Given the description of an element on the screen output the (x, y) to click on. 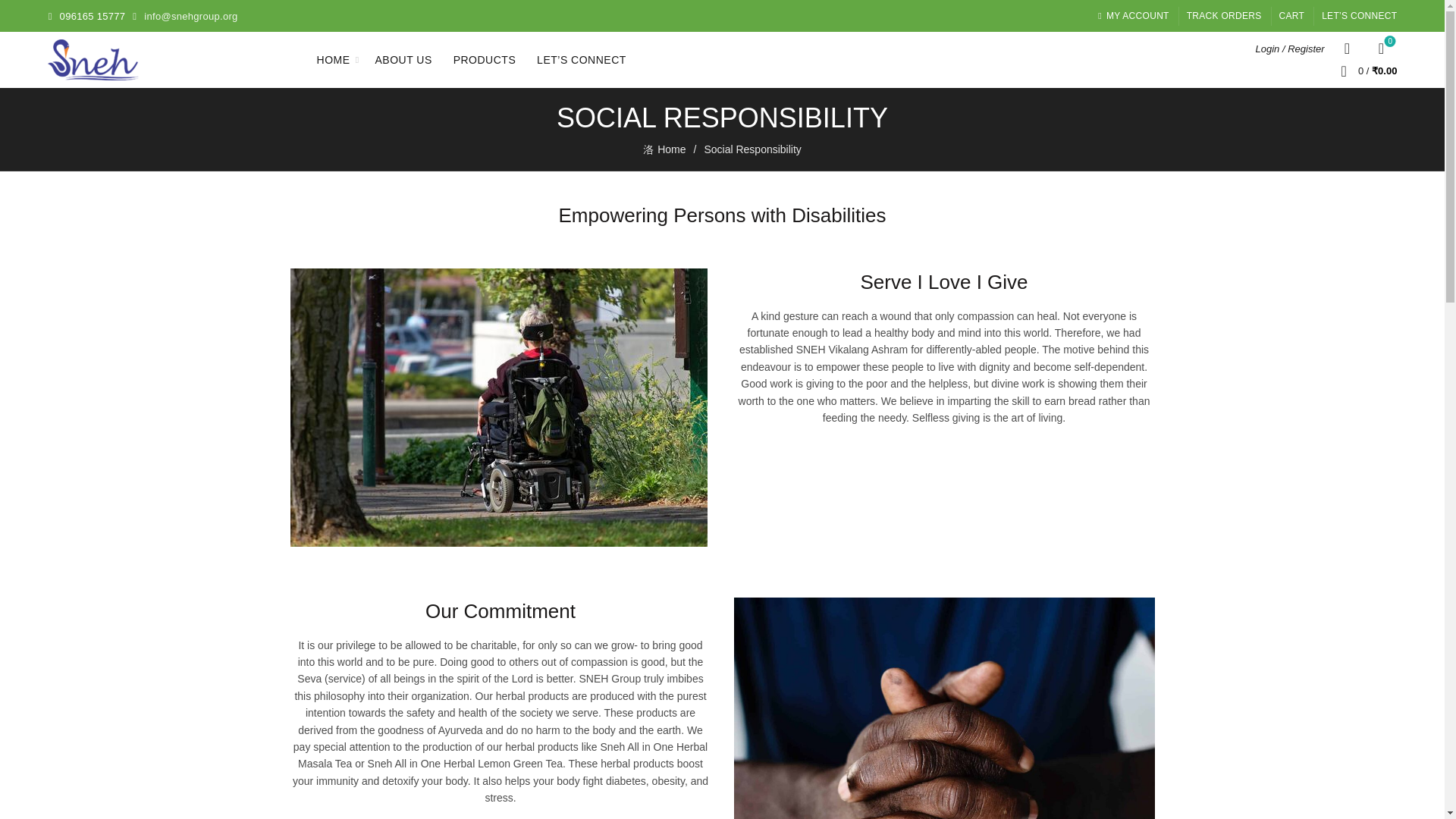
Home (673, 149)
096165 15777 (1380, 47)
MY ACCOUNT (94, 16)
HOME (1133, 15)
CART (333, 59)
ABOUT US (1291, 15)
TRACK ORDERS (403, 59)
rawpixel-769319-unsplash (1224, 15)
PRODUCTS (943, 708)
